Given the description of an element on the screen output the (x, y) to click on. 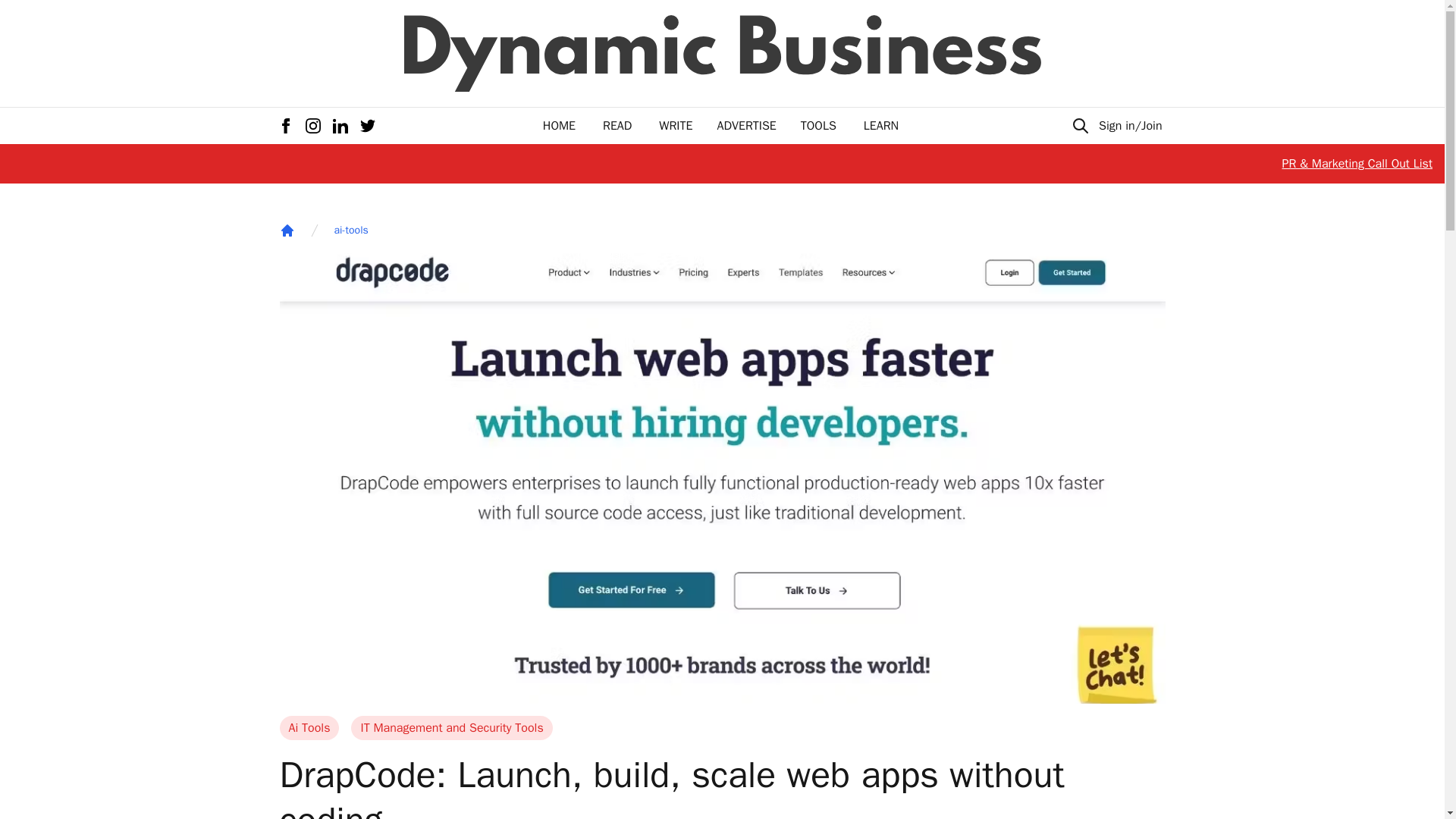
ADVERTISE (746, 126)
HOME (559, 126)
Home (286, 230)
READ (616, 126)
TOOLS (817, 126)
Ai Tools (309, 727)
LEARN (880, 126)
IT Management and Security Tools (450, 727)
ai-tools (350, 230)
WRITE (676, 126)
